Given the description of an element on the screen output the (x, y) to click on. 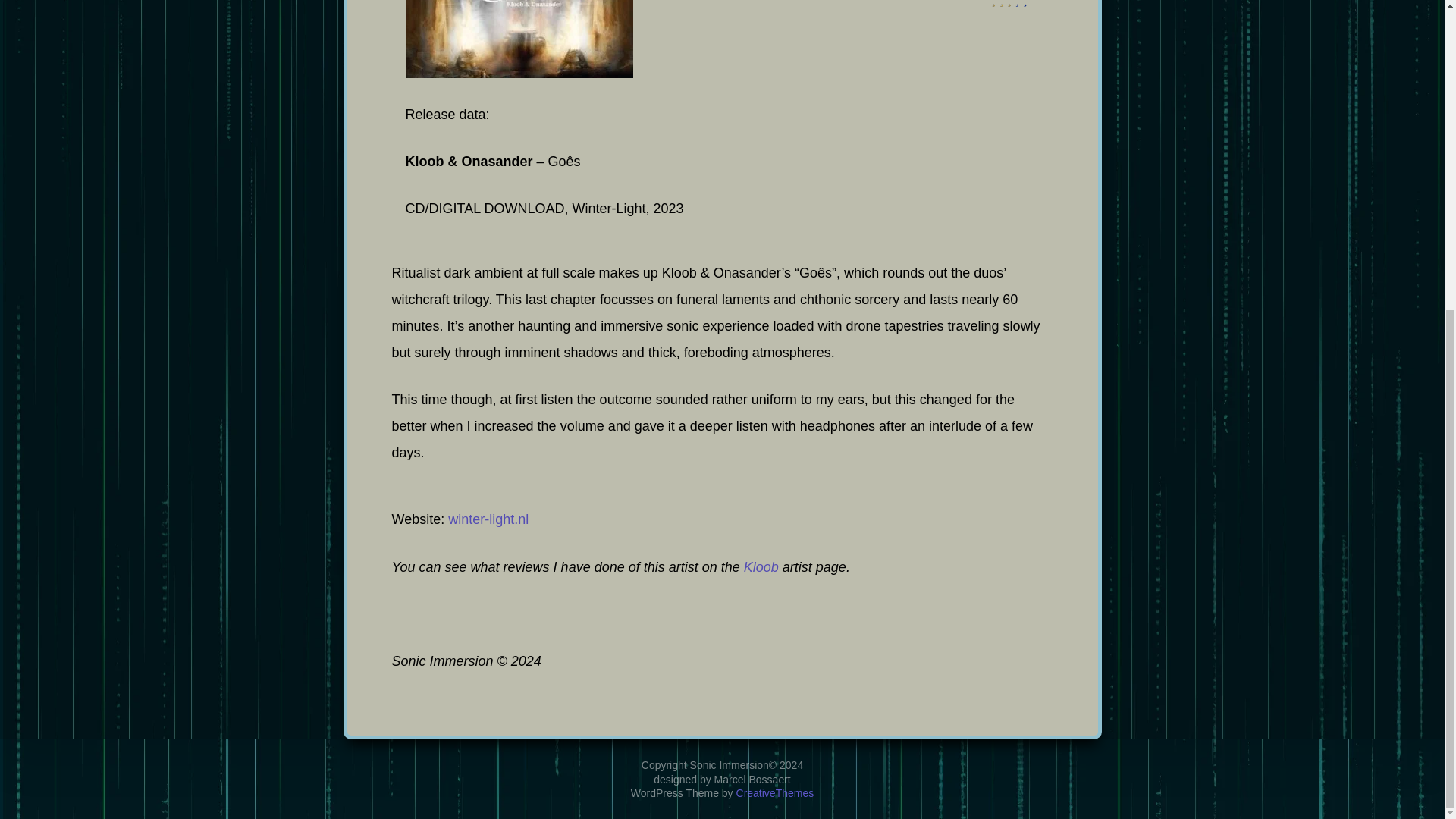
CreativeThemes (774, 300)
winter-light.nl (488, 519)
Kloob (761, 566)
